Given the description of an element on the screen output the (x, y) to click on. 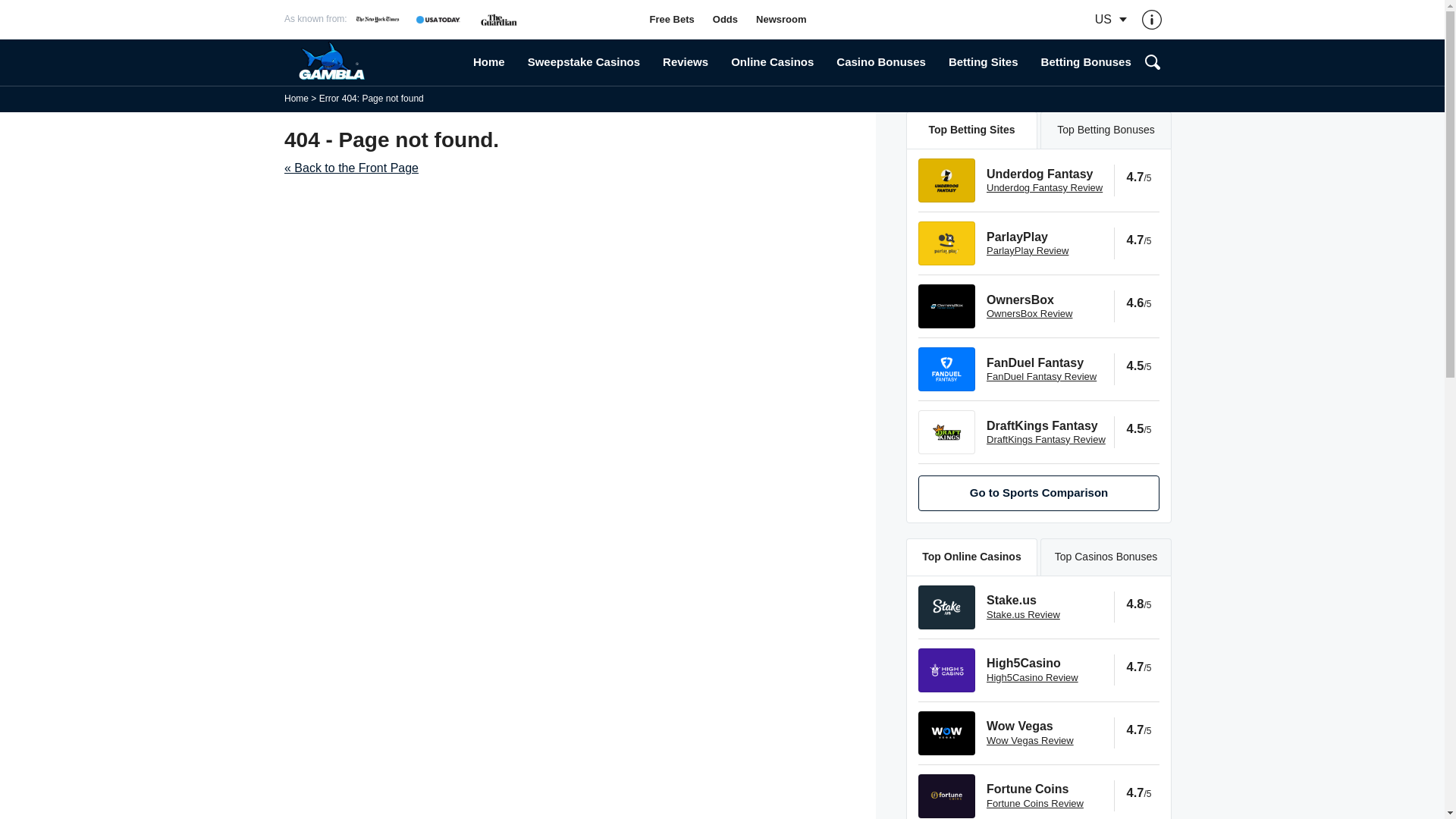
Gambla Logo (372, 62)
Home (488, 62)
Odds (725, 19)
Free Bets (671, 19)
Sweepstake Casinos (583, 62)
Newsroom (780, 19)
